Given the description of an element on the screen output the (x, y) to click on. 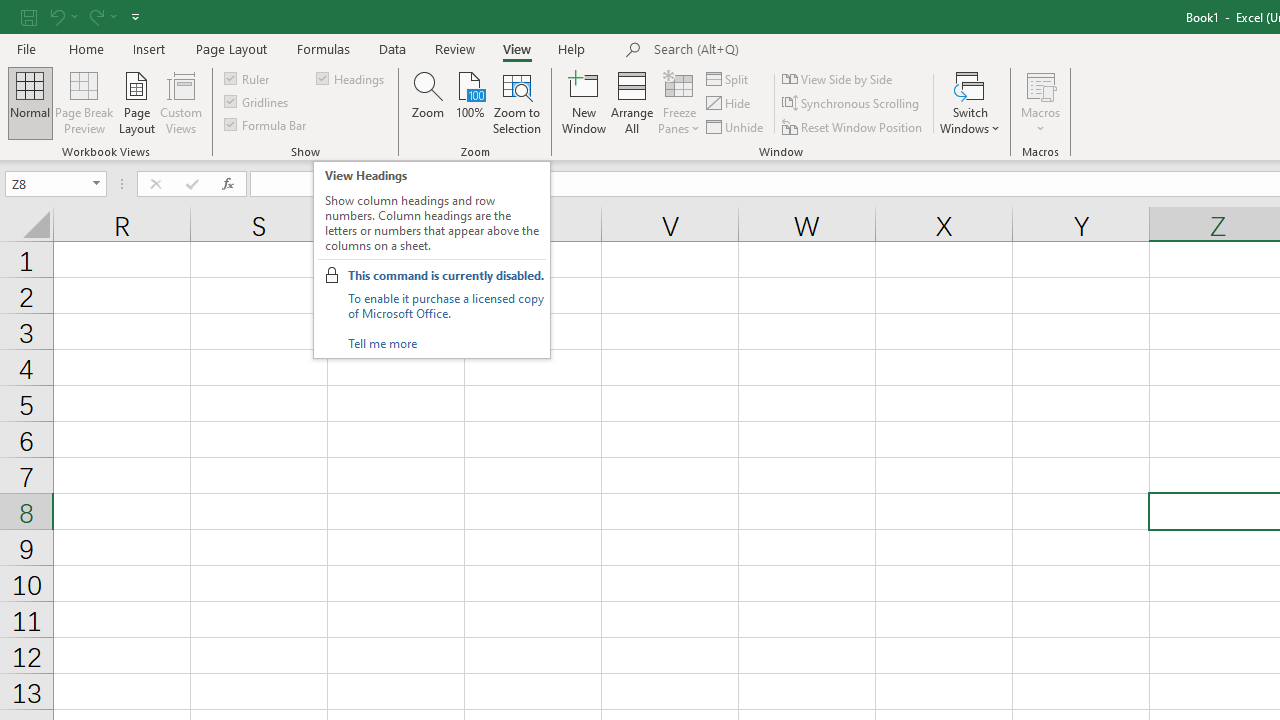
Headings (351, 78)
Formula Bar (267, 124)
Split (728, 78)
View Macros (1040, 84)
View Side by Side (838, 78)
